Given the description of an element on the screen output the (x, y) to click on. 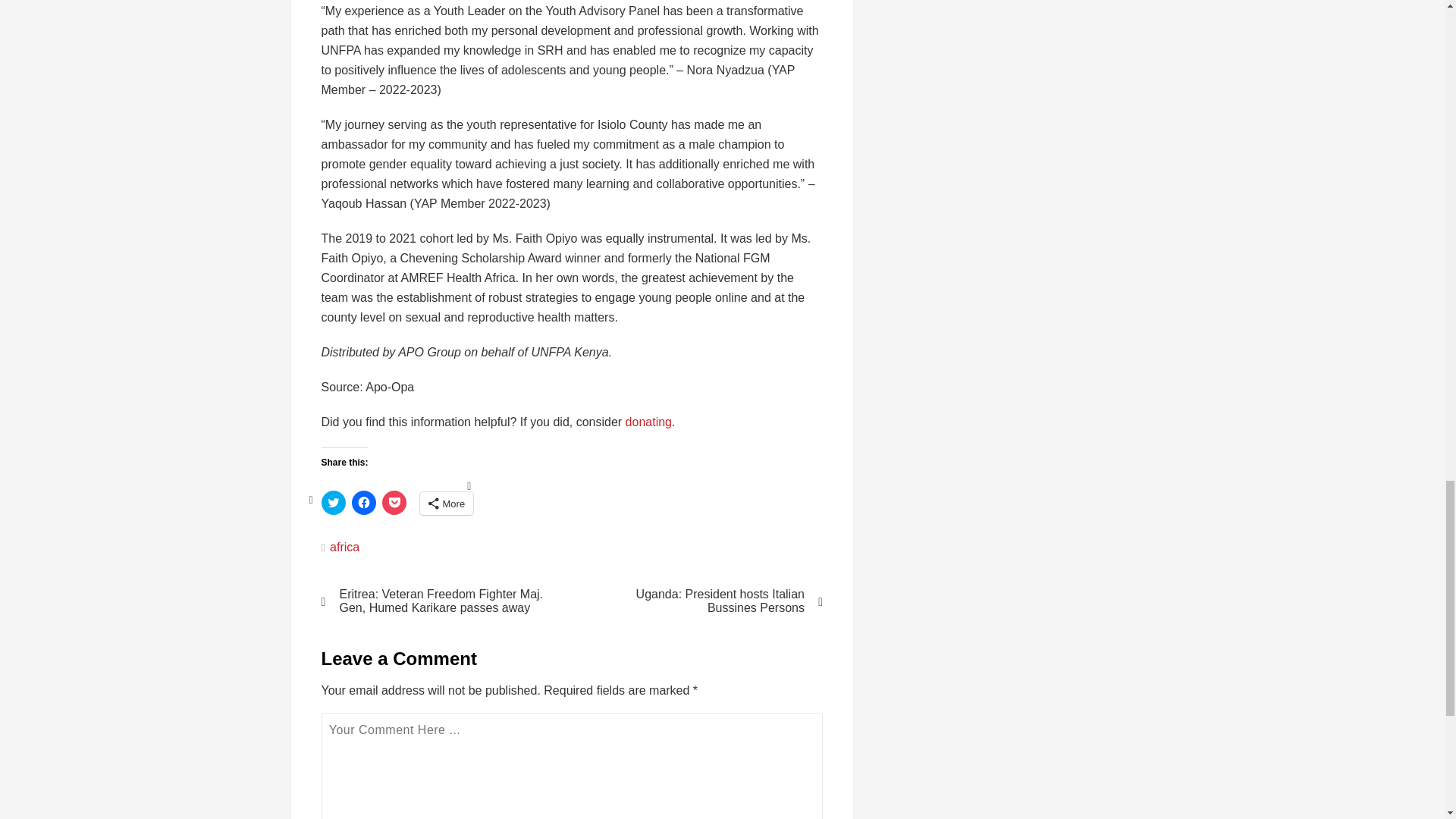
africa (344, 546)
Click to share on Facebook (363, 502)
Uganda: President hosts Italian Bussines Persons (707, 601)
More (447, 503)
donating (648, 421)
Click to share on Pocket (393, 502)
Click to share on Twitter (333, 502)
